Given the description of an element on the screen output the (x, y) to click on. 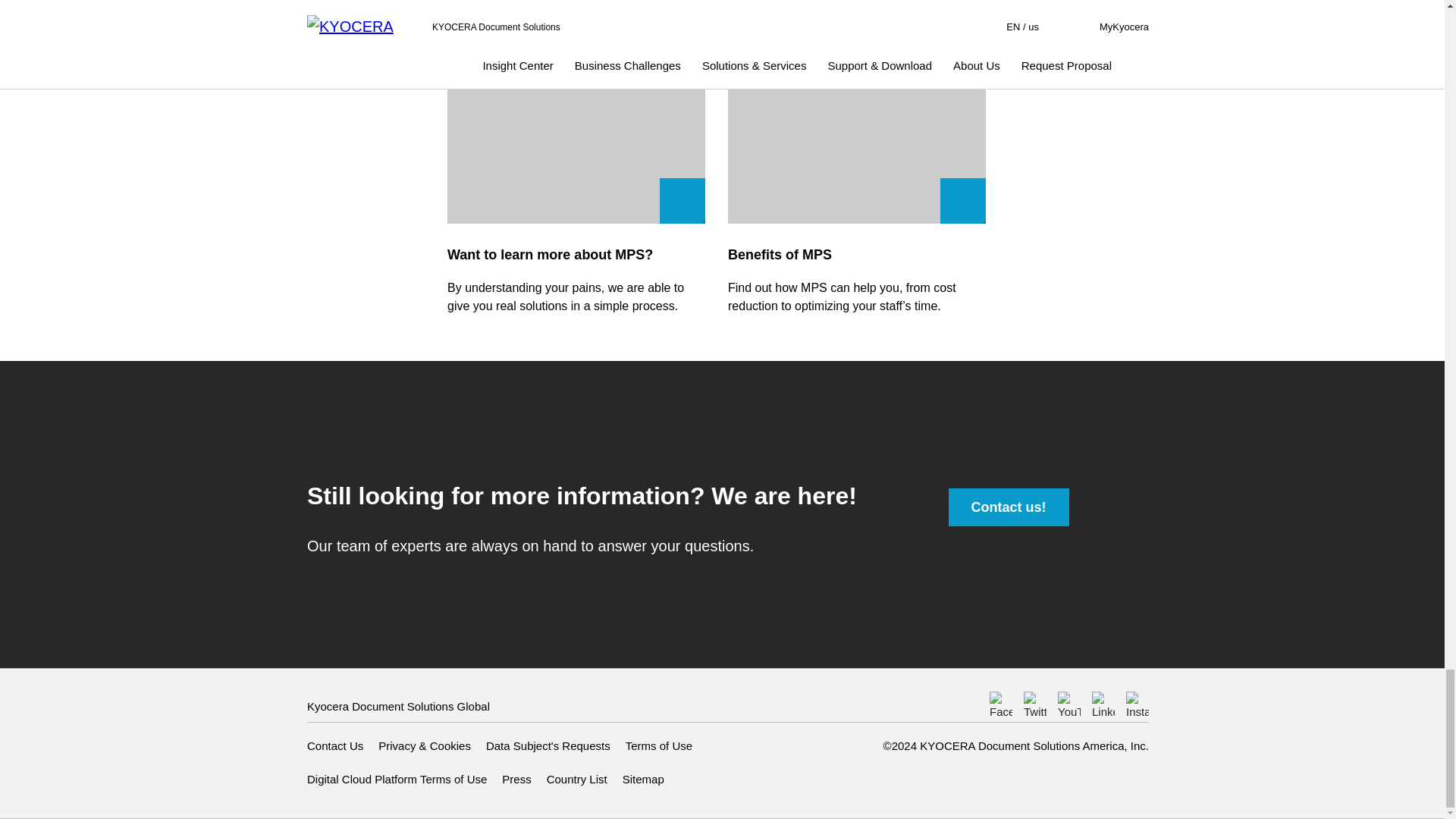
Twitter (1034, 702)
Instagram (1136, 702)
Terms of Use (659, 746)
Want to learn more about MPS? (575, 111)
Data Subject's Requests (548, 746)
Contact Us (334, 746)
YouTube (1069, 702)
Facebook (1000, 702)
LinkedIn (1103, 702)
Kyocera Document Solutions Global (398, 706)
Benefits of MPS (856, 111)
